Given the description of an element on the screen output the (x, y) to click on. 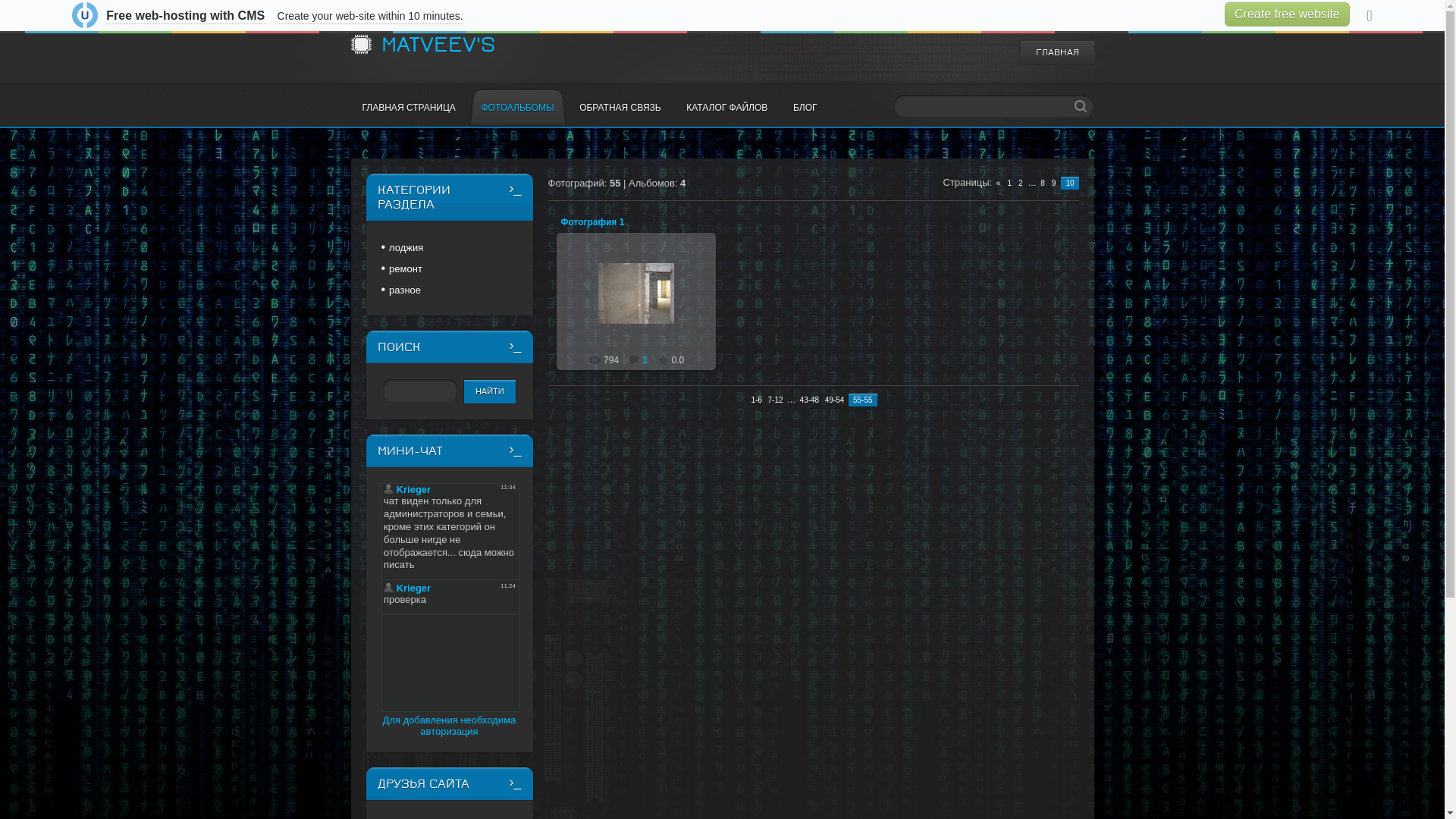
43-48 Element type: text (809, 399)
2 Element type: text (1020, 182)
1 Element type: text (1009, 182)
8 Element type: text (1042, 182)
Search Element type: text (1079, 106)
MATVEEV'S Element type: text (437, 44)
9 Element type: text (1054, 182)
1-6 Element type: text (755, 399)
49-54 Element type: text (834, 399)
1 Element type: text (637, 360)
RSS Element type: text (1085, 20)
7-12 Element type: text (774, 399)
